Given the description of an element on the screen output the (x, y) to click on. 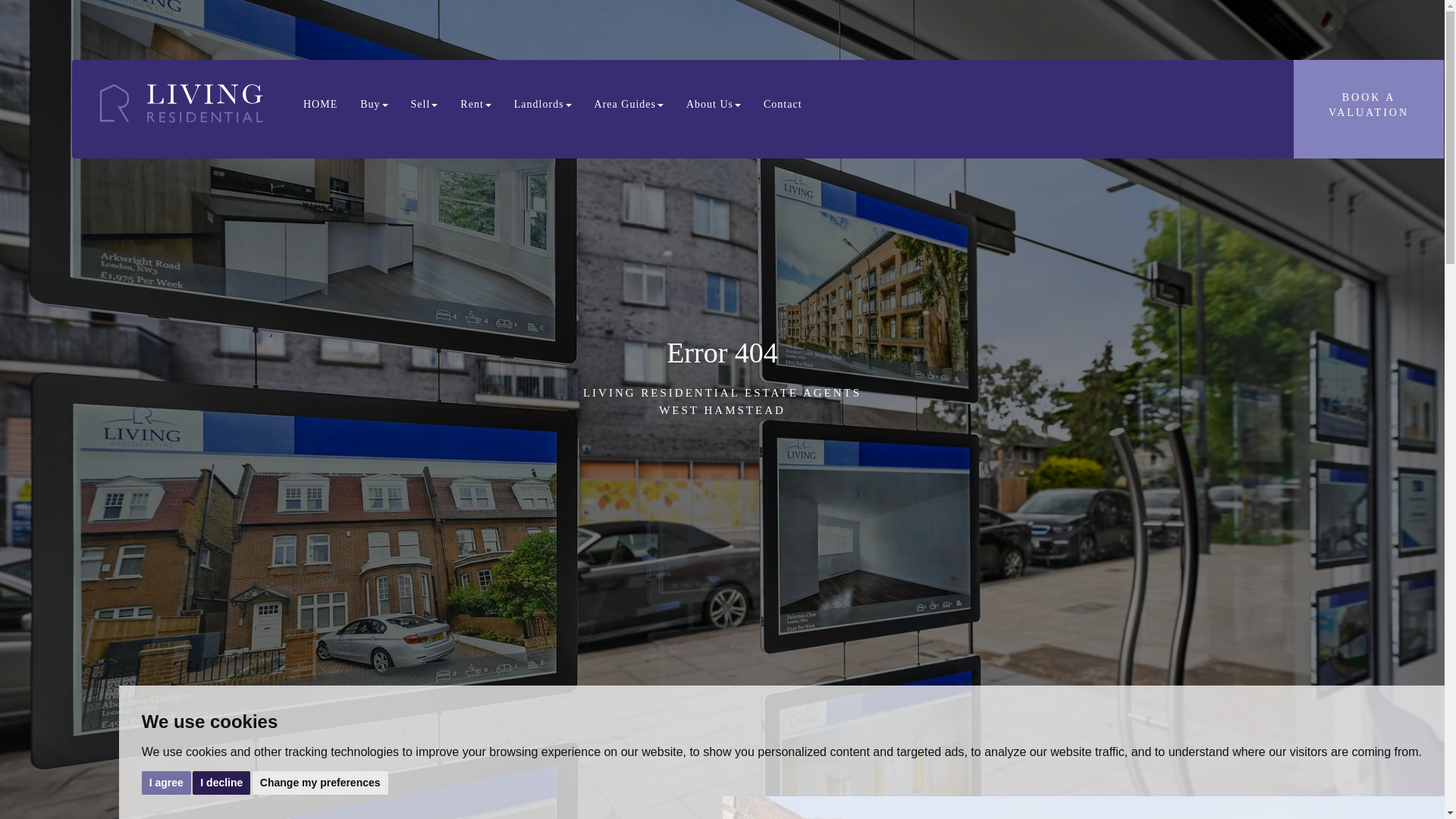
Change my preferences (319, 781)
Rent (475, 104)
I agree (165, 781)
Sell (423, 104)
About Us (713, 104)
Buy (373, 104)
Area Guides (629, 104)
contact us (782, 104)
Home Page (1369, 108)
I decline (320, 104)
Landlords (221, 781)
Contact (542, 104)
HOME (782, 104)
